Given the description of an element on the screen output the (x, y) to click on. 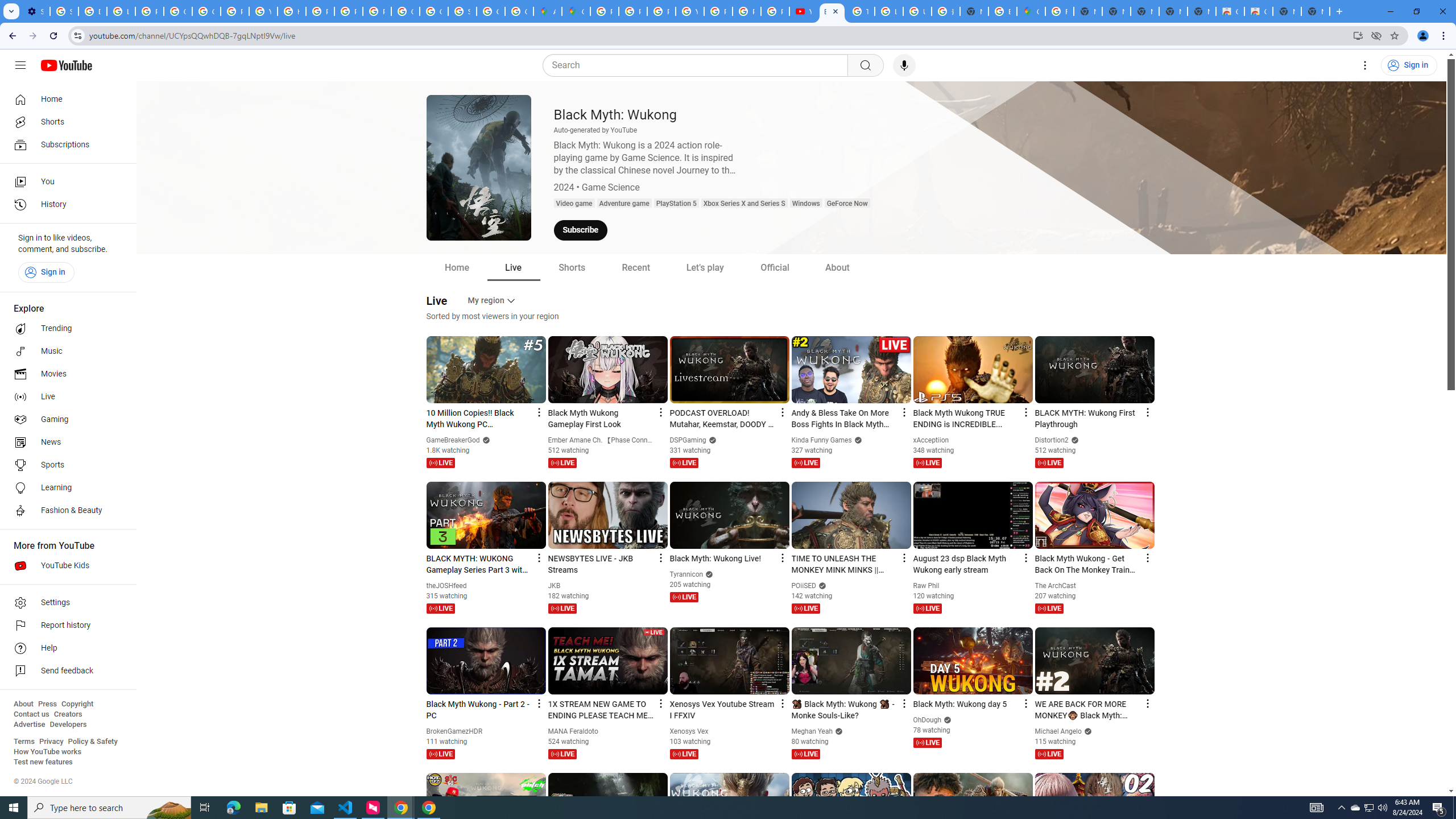
Create your Google Account (518, 11)
Trending (64, 328)
My region (492, 300)
Contact us (31, 714)
Google Maps (575, 11)
Black Myth: Wukong - Topic - YouTube (831, 11)
PlayStation 5 (675, 203)
Subscribe (580, 230)
New Tab (973, 11)
Learning (64, 487)
AutomationID: bg (790, 181)
